Given the description of an element on the screen output the (x, y) to click on. 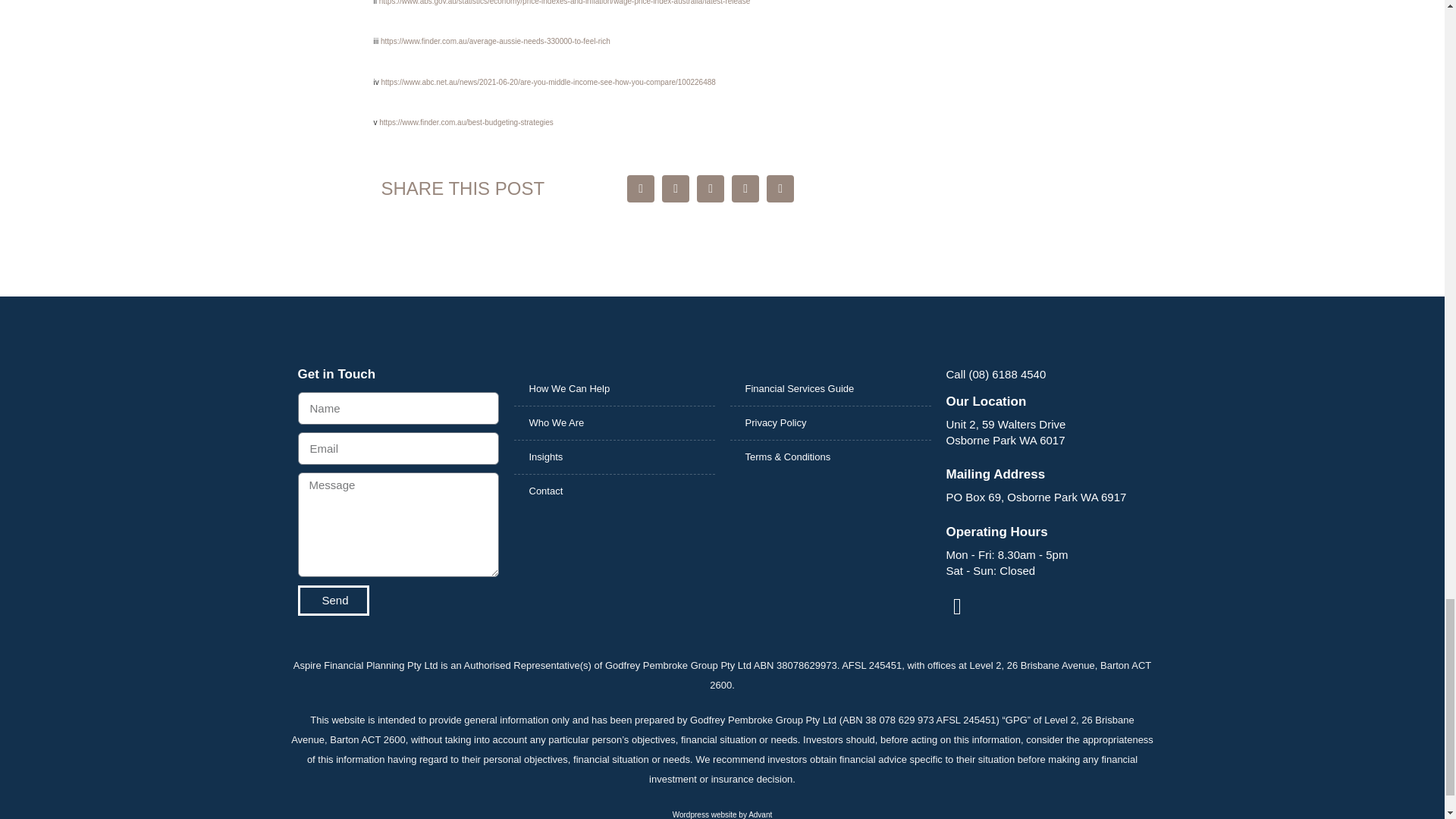
Send (332, 600)
How We Can Help (613, 388)
Who We Are (613, 422)
